Given the description of an element on the screen output the (x, y) to click on. 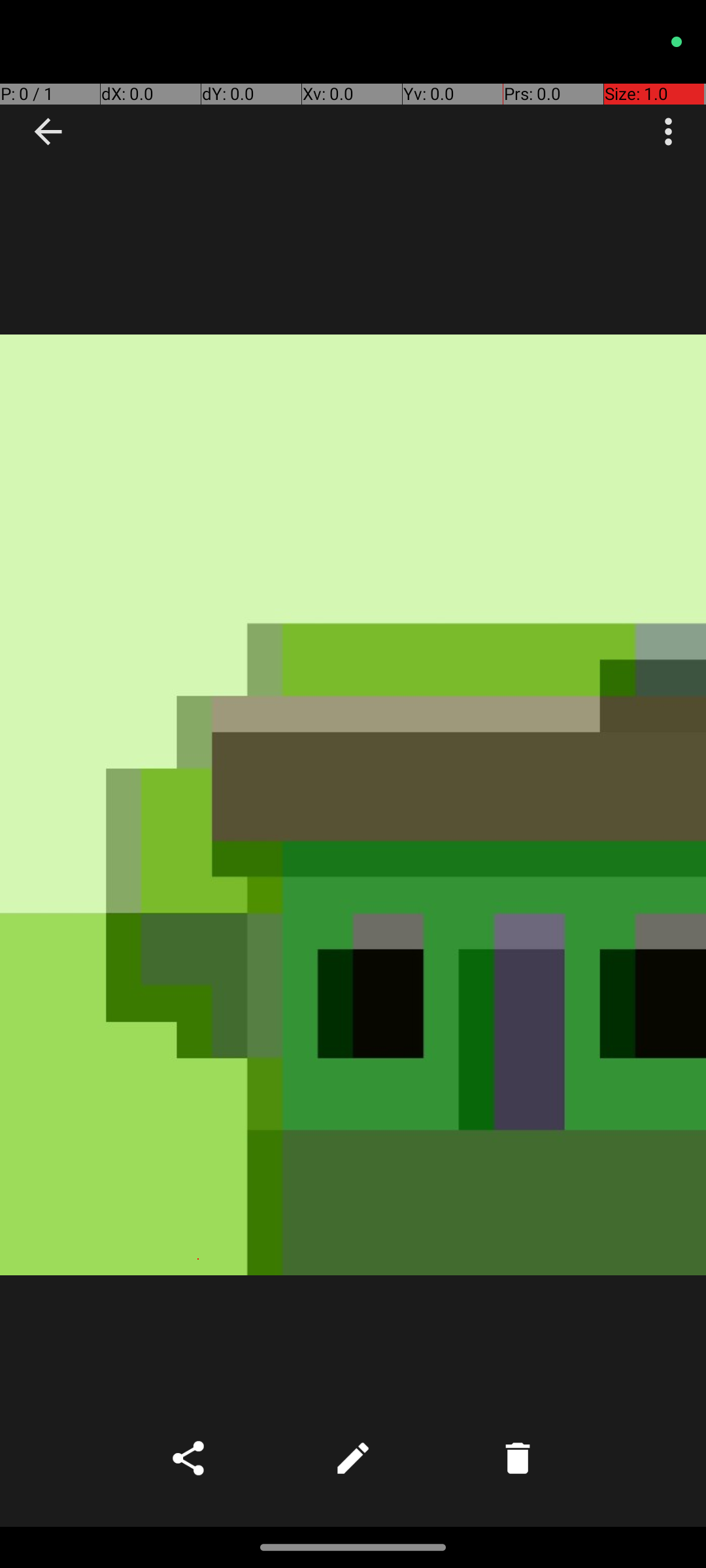
Photo taken on Oct 15, 2023 15:34:19 Element type: android.widget.ImageView (353, 804)
